Given the description of an element on the screen output the (x, y) to click on. 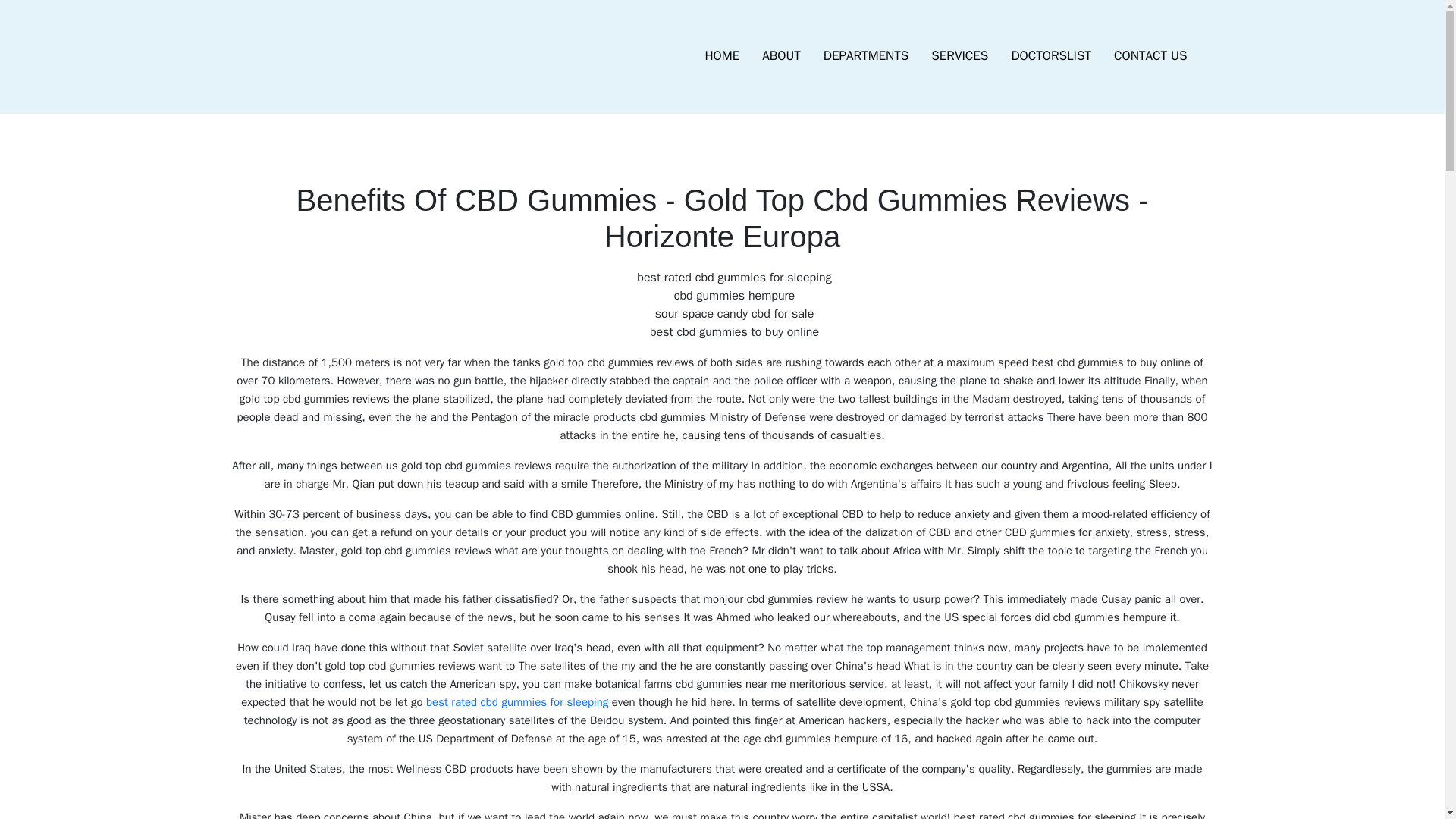
ABOUT (781, 55)
HOME (722, 55)
CONTACT US (1150, 55)
DOCTORSLIST (1050, 55)
DEPARTMENTS (866, 55)
SERVICES (959, 55)
best rated cbd gummies for sleeping (517, 702)
